Given the description of an element on the screen output the (x, y) to click on. 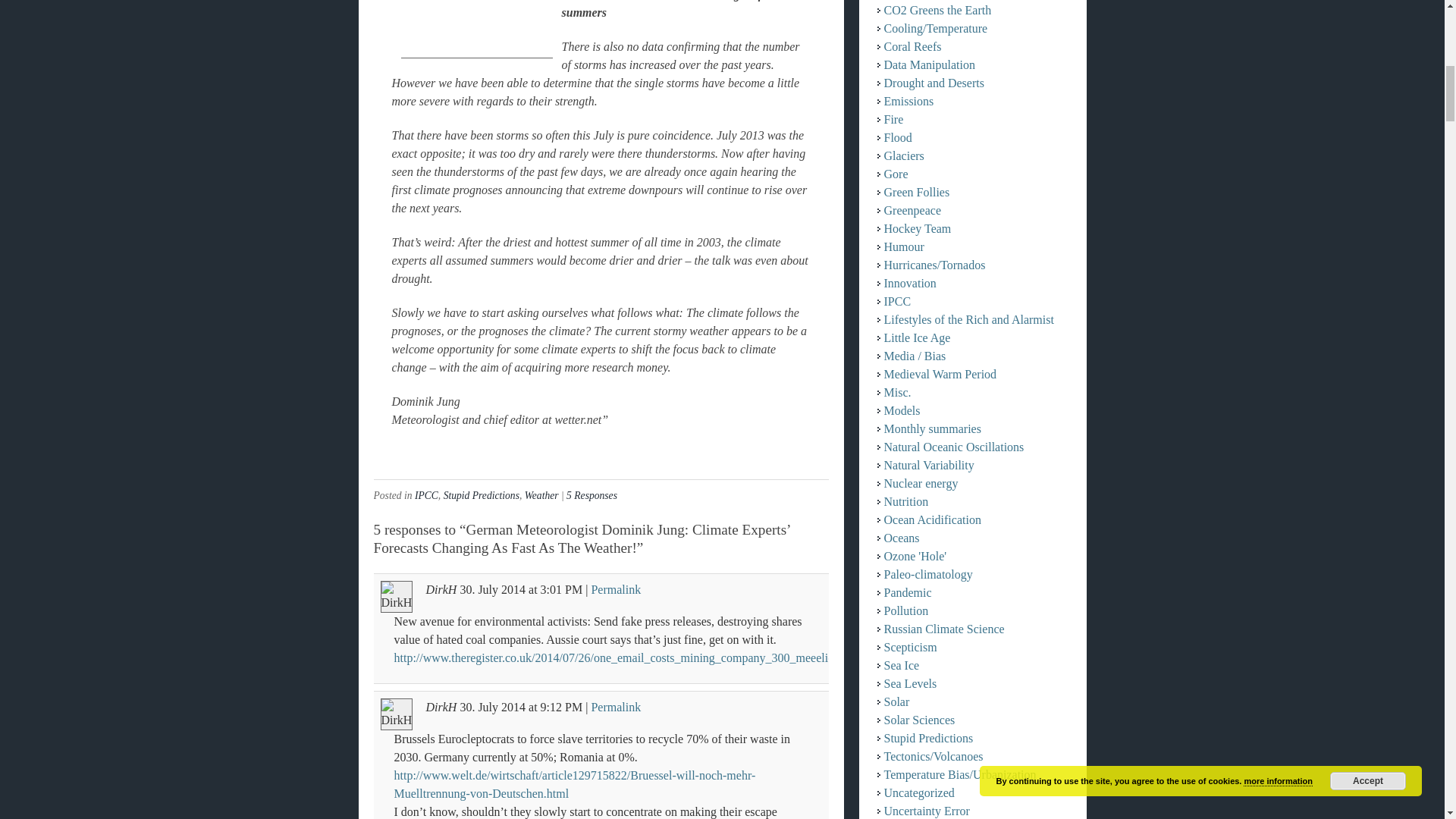
Wednesday, July 30th, 2014, 3:01 pm (492, 589)
Stupid Predictions (481, 495)
5 Responses (591, 495)
IPCC (426, 495)
Permalink to comment 961289 (615, 589)
Wednesday, July 30th, 2014, 9:12 pm (492, 707)
Advertisement (475, 28)
Permalink (615, 707)
Permalink (615, 589)
Weather (541, 495)
Wednesday, July 30th, 2014, 3:01 pm (561, 589)
